Given the description of an element on the screen output the (x, y) to click on. 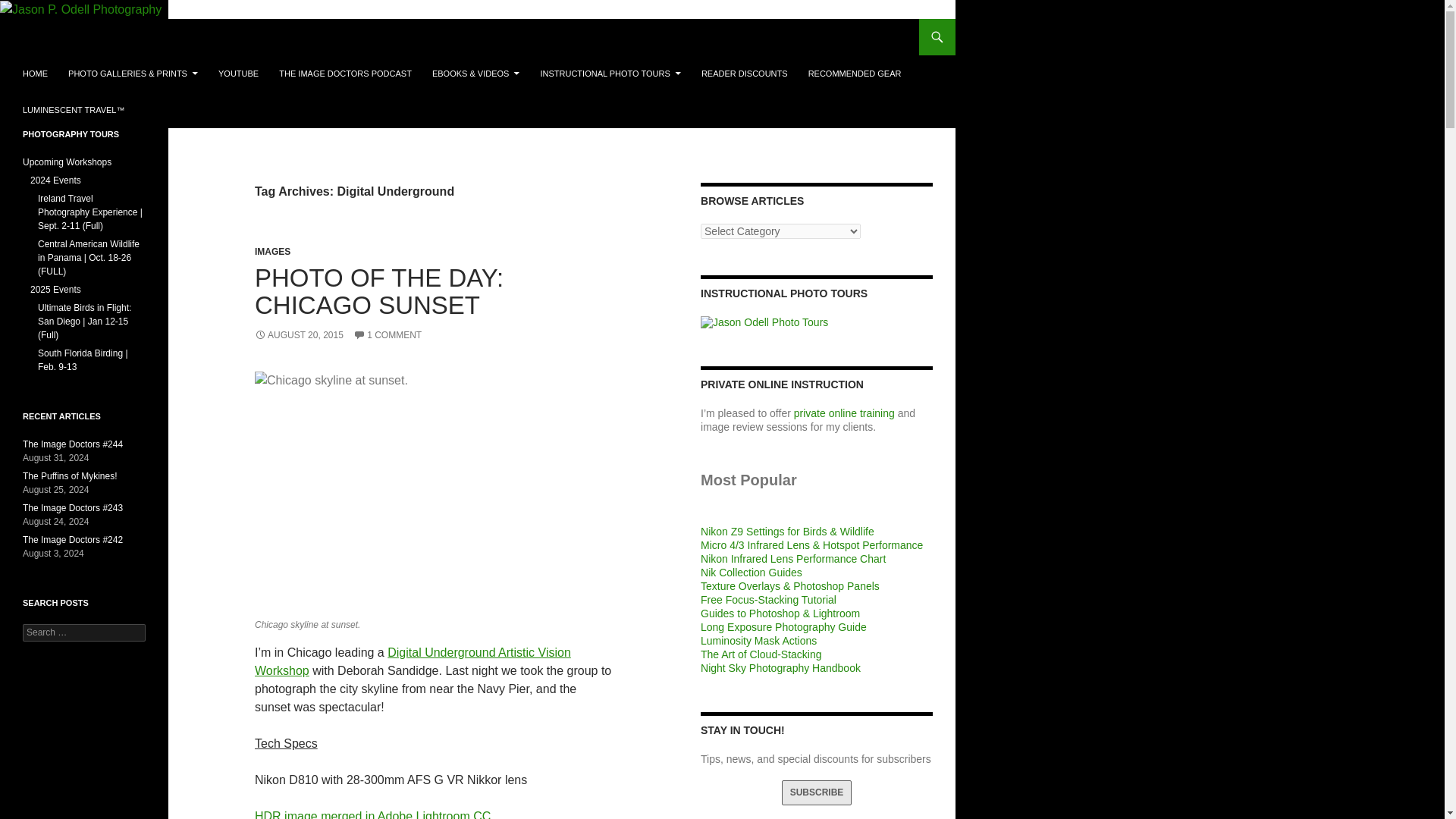
Coupons and discount codes (744, 73)
HOME (34, 73)
Digital Underground Artistic Vision Workshop (412, 661)
RECOMMENDED GEAR (855, 73)
YOUTUBE (238, 73)
THE IMAGE DOCTORS PODCAST (344, 73)
IMAGES (271, 251)
Luminescence of Nature Press (475, 73)
READER DISCOUNTS (744, 73)
